Given the description of an element on the screen output the (x, y) to click on. 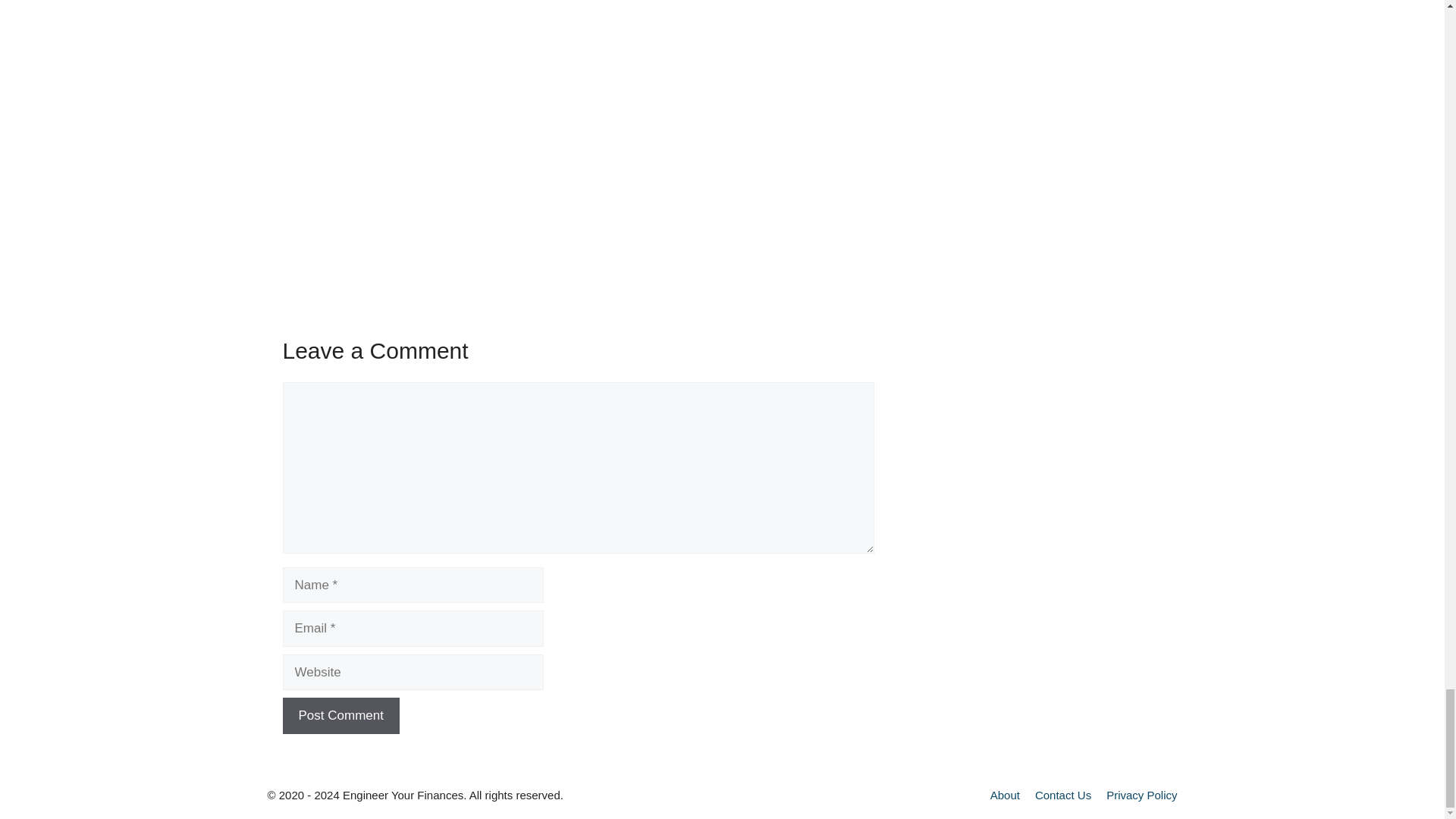
Contact Us (1062, 794)
Post Comment (340, 715)
Privacy Policy (1141, 794)
Post Comment (340, 715)
About (1005, 794)
